Given the description of an element on the screen output the (x, y) to click on. 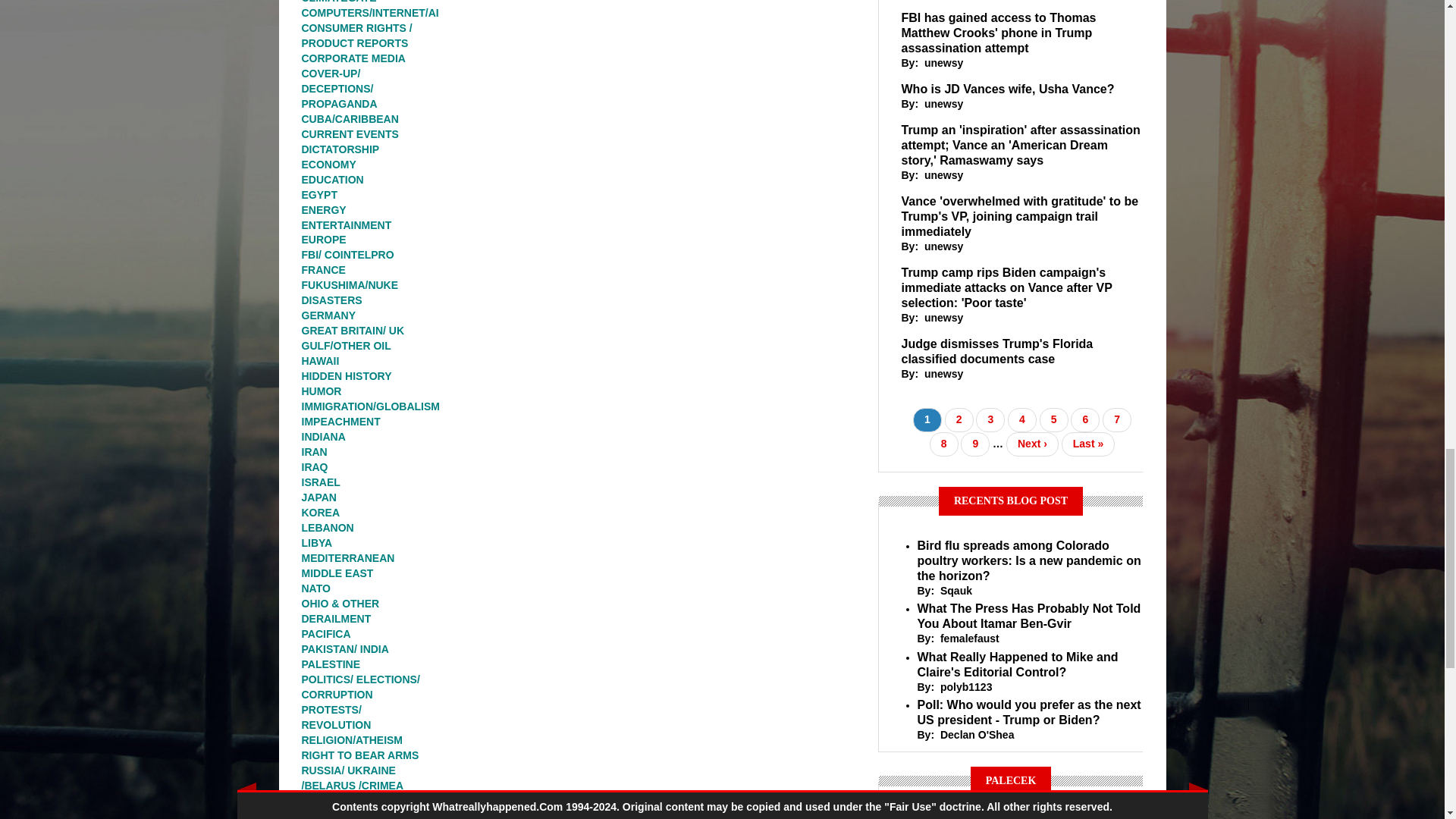
Go to page 8 (944, 444)
Go to page 7 (1116, 419)
Go to last page (1088, 444)
Current page (927, 419)
Go to page 2 (959, 419)
Go to page 5 (1053, 419)
Go to next page (1032, 444)
Go to page 3 (989, 419)
Go to page 4 (1021, 419)
Go to page 6 (1084, 419)
Go to page 9 (975, 444)
